Given the description of an element on the screen output the (x, y) to click on. 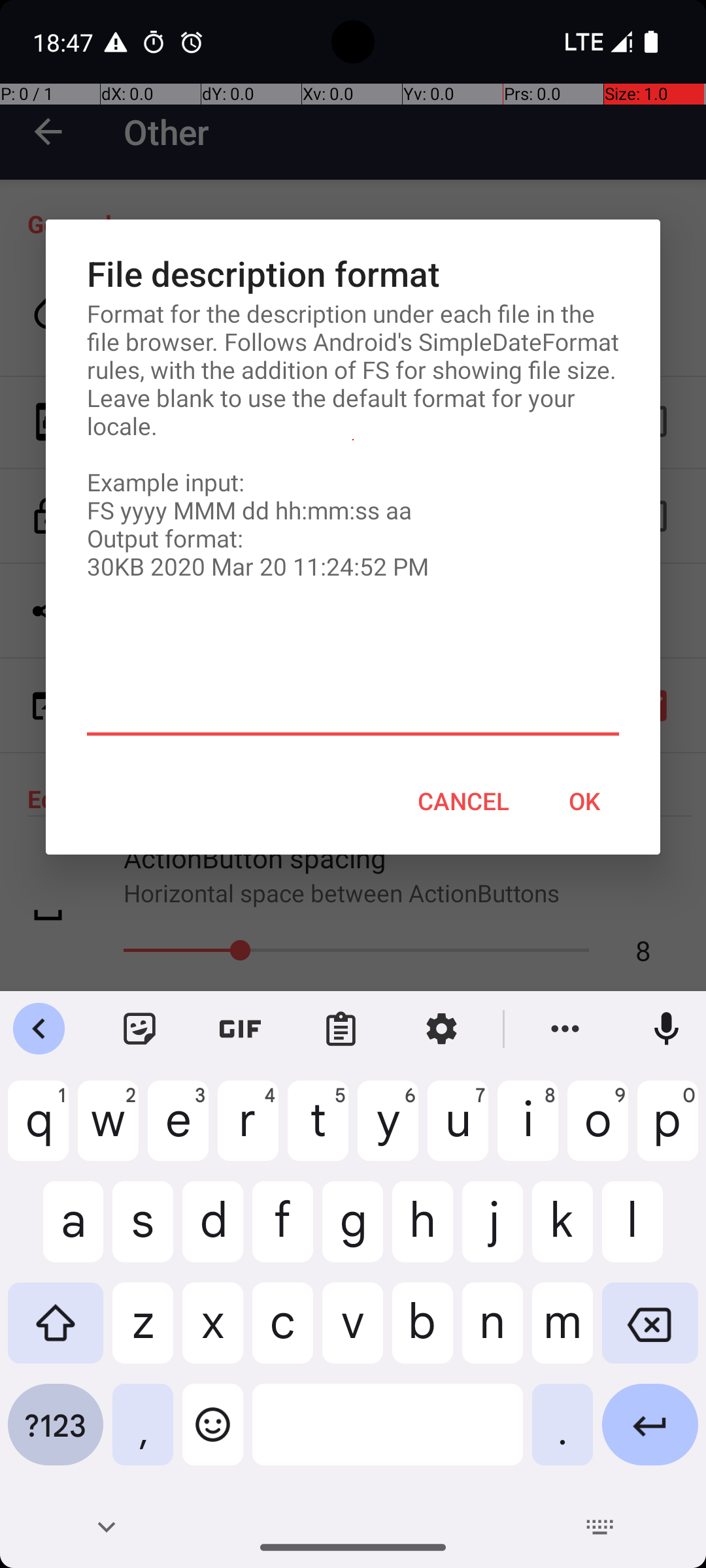
File description format Element type: android.widget.TextView (352, 273)
Format for the description under each file in the file browser. Follows Android's SimpleDateFormat rules, with the addition of FS for showing file size. Leave blank to use the default format for your locale.

Example input:
FS yyyy MMM dd hh:mm:ss aa
Output format:
30KB 2020 Mar 20 11:24:52 PM Element type: android.widget.TextView (352, 439)
18:47 Element type: android.widget.TextView (64, 41)
Clock notification: Upcoming alarm Element type: android.widget.ImageView (191, 41)
